Given the description of an element on the screen output the (x, y) to click on. 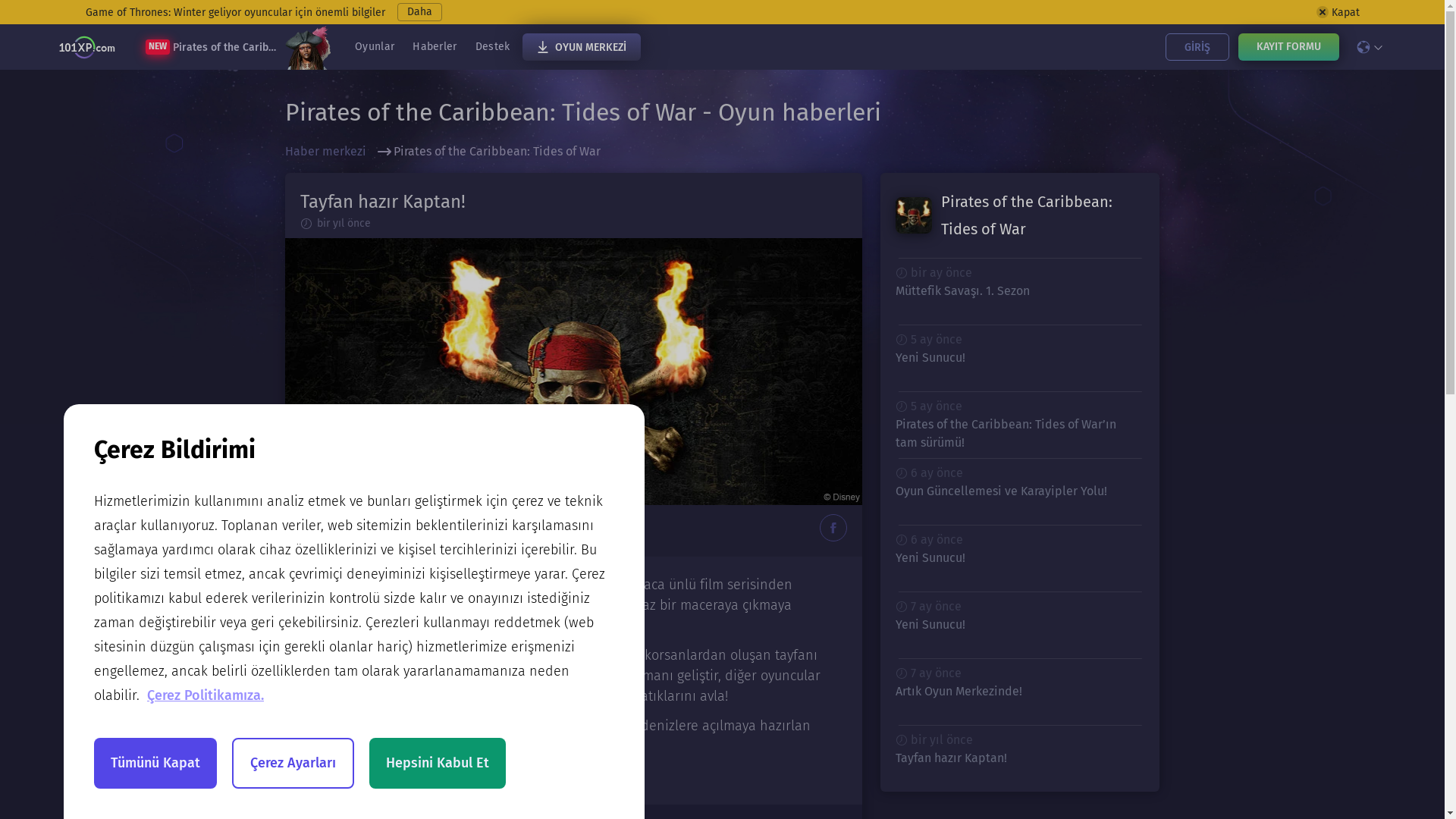
Destek Element type: text (492, 46)
NEW
Pirates of the Caribbean Element type: text (237, 46)
Oyunlar Element type: text (374, 46)
Haber merkezi Element type: text (330, 151)
OYUN MERKEZI Element type: text (580, 46)
Haberler Element type: text (434, 46)
KAYIT FORMU Element type: text (1287, 46)
